Given the description of an element on the screen output the (x, y) to click on. 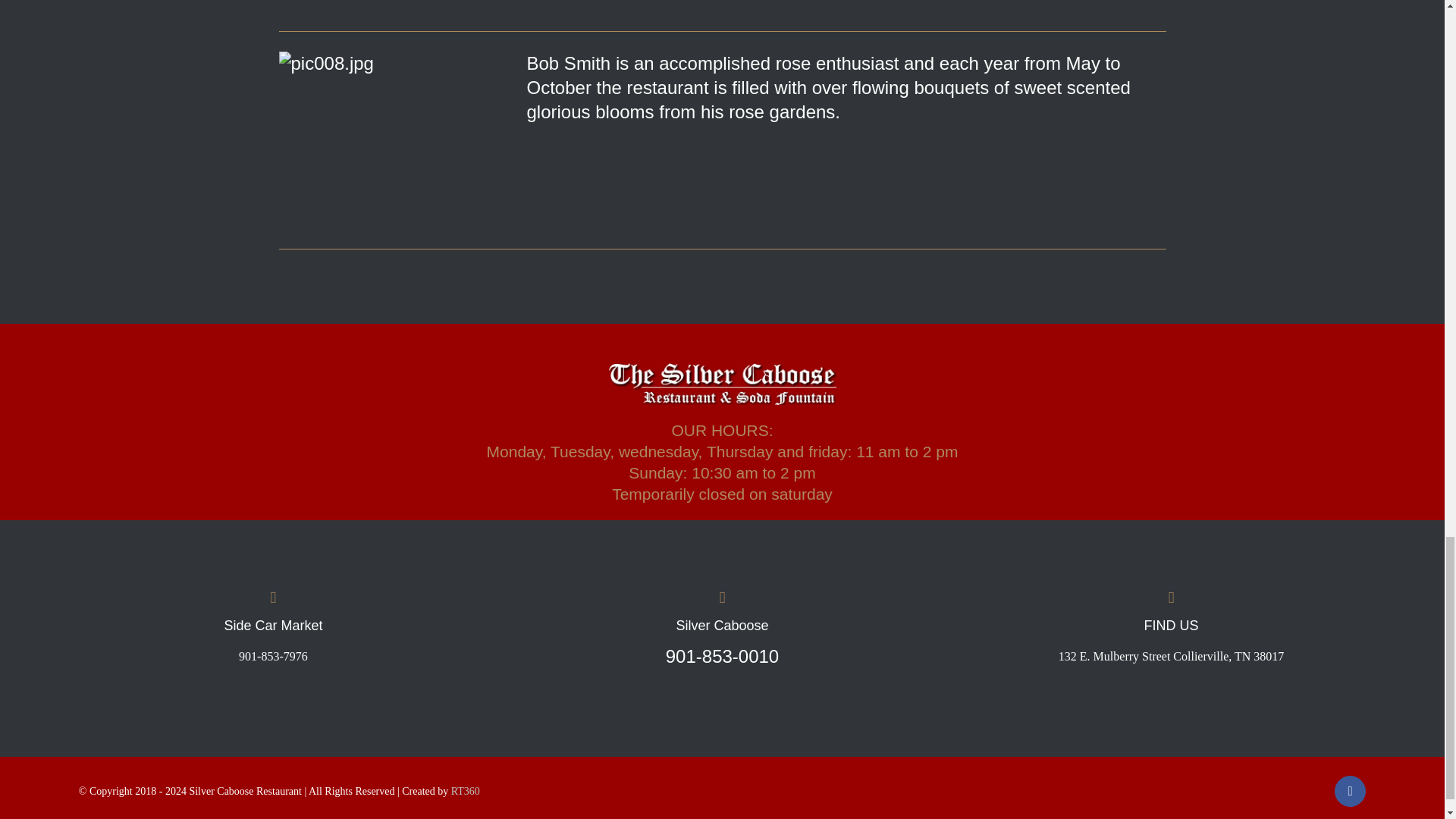
pic008.jpg (397, 140)
Facebook (1350, 790)
RT360 (465, 790)
